Given the description of an element on the screen output the (x, y) to click on. 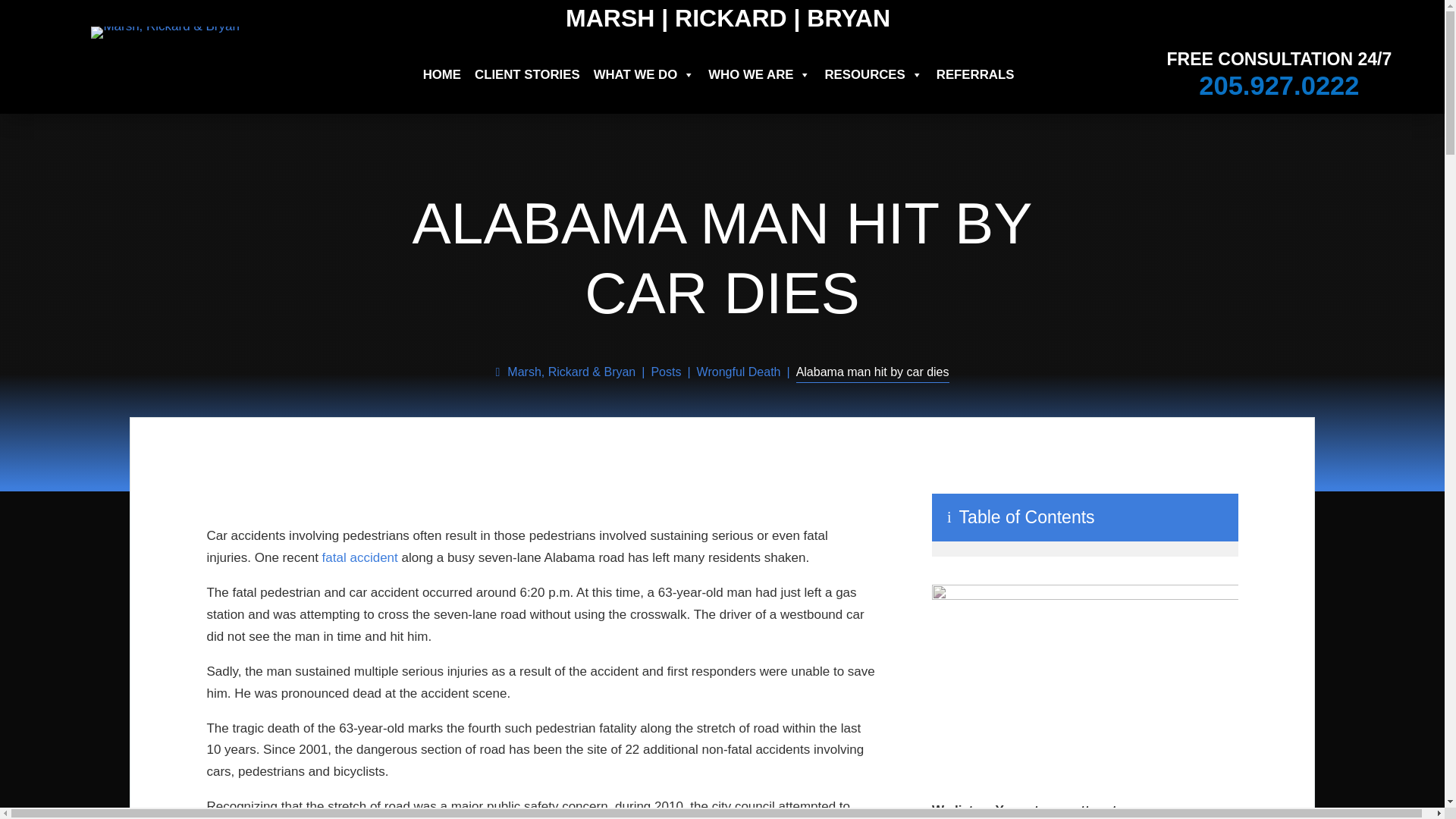
HOME (442, 74)
WHAT WE DO (644, 74)
MRB Trial Attorneys in Alabama wrongful death (1084, 678)
CLIENT STORIES (527, 74)
MarshRickardLogo (165, 32)
